Given the description of an element on the screen output the (x, y) to click on. 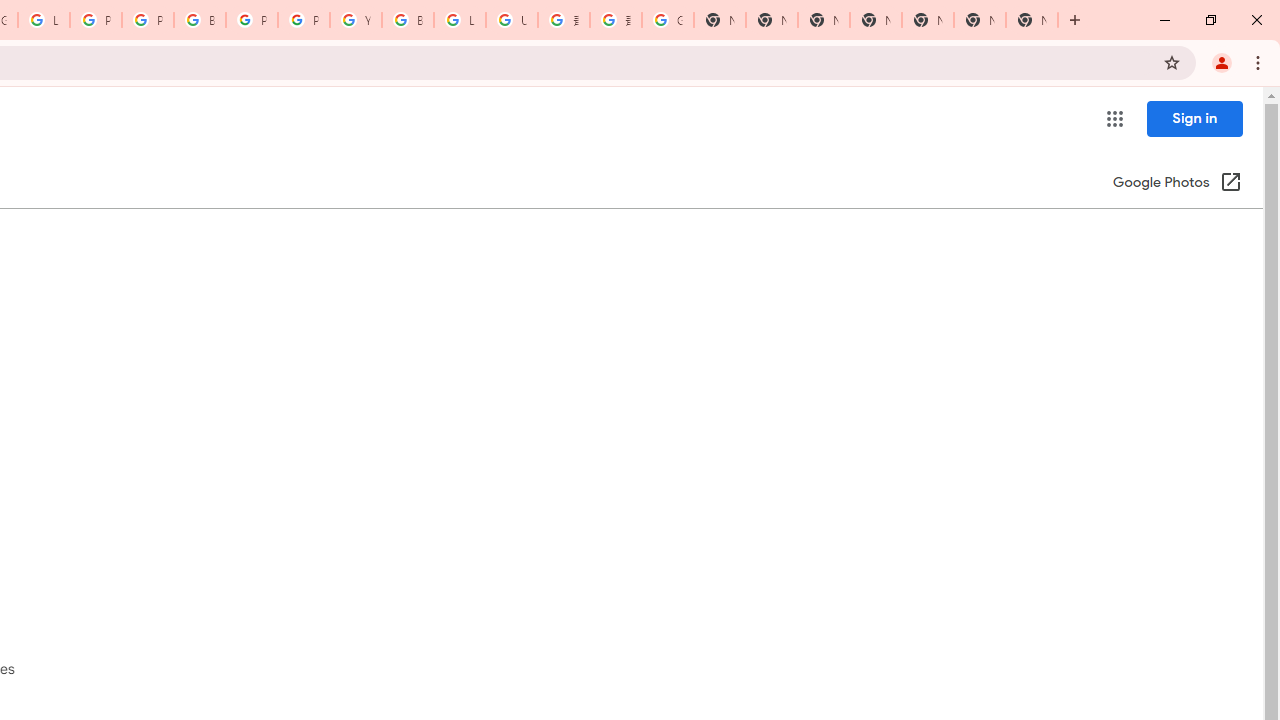
Privacy Help Center - Policies Help (95, 20)
Privacy Help Center - Policies Help (147, 20)
Google Photos (Open in a new window) (1177, 183)
New Tab (875, 20)
Google Images (667, 20)
